Given the description of an element on the screen output the (x, y) to click on. 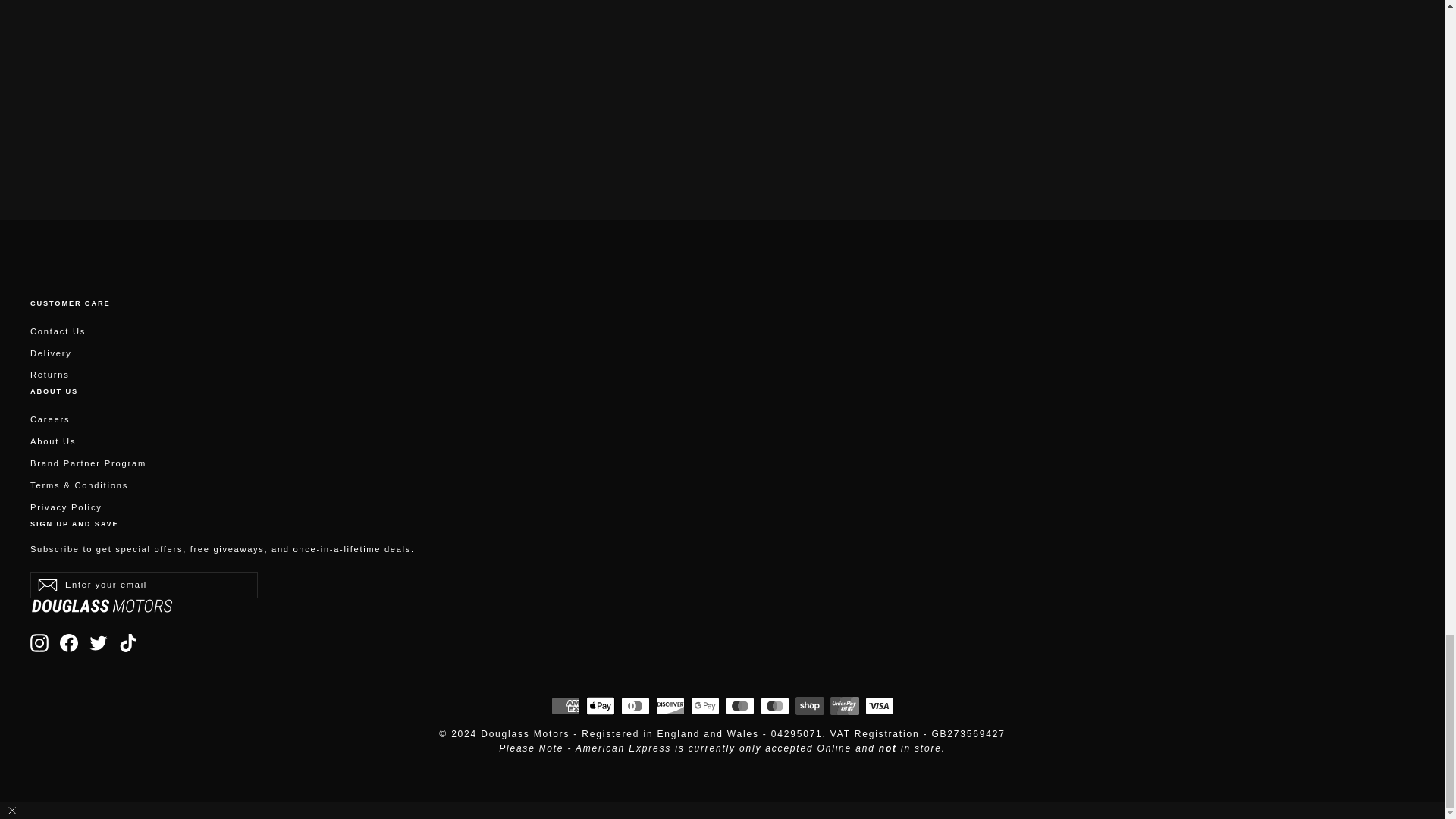
Douglass Motors on Facebook (68, 642)
Douglass Motors on Instagram (39, 642)
Douglass Motors on Twitter (97, 642)
Douglass Motors on TikTok (127, 642)
